Given the description of an element on the screen output the (x, y) to click on. 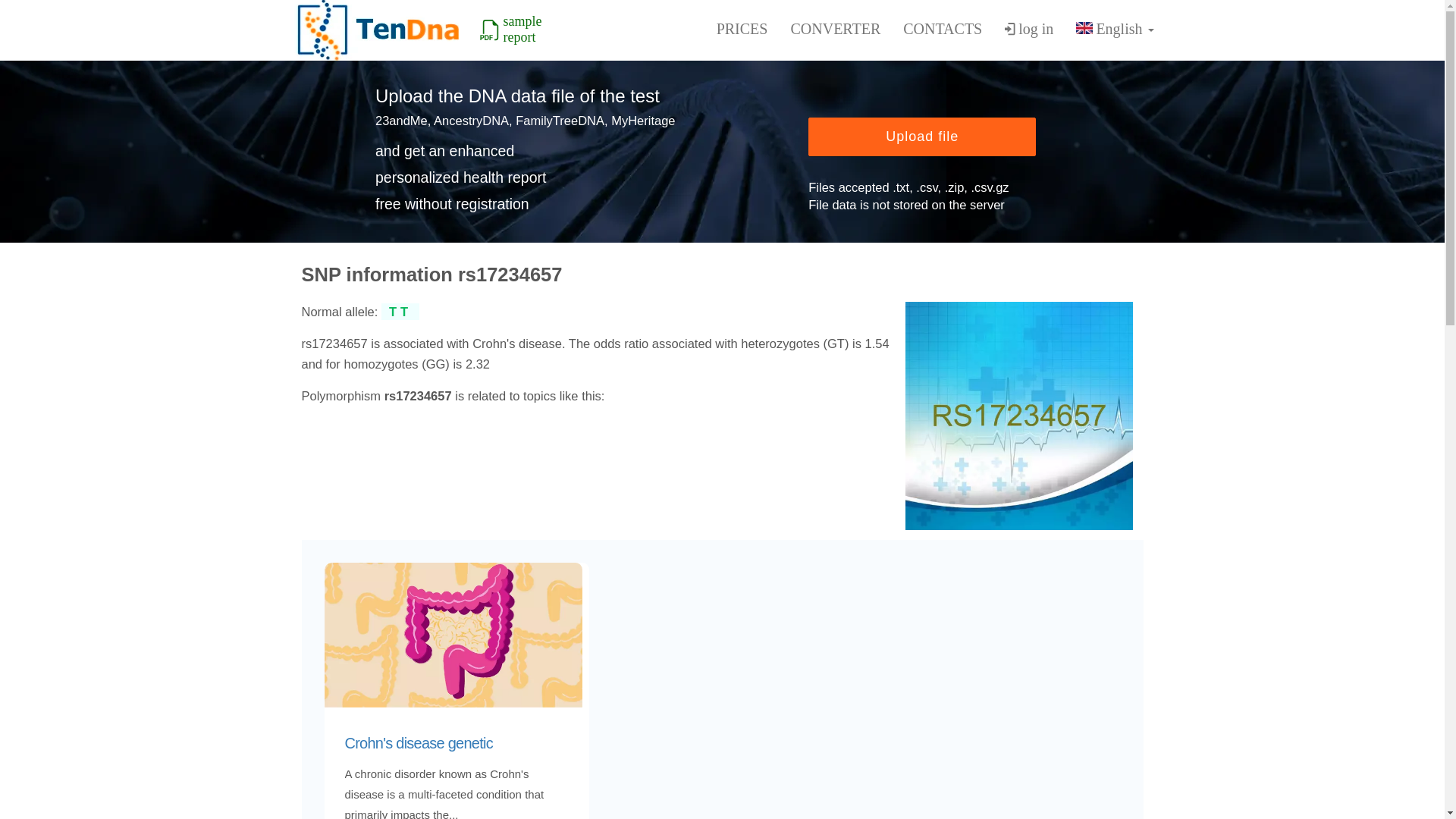
RS17234657 (1018, 415)
PRICES (741, 28)
CONTACTS (941, 28)
log in (1028, 29)
CONVERTER (834, 28)
sample report (522, 29)
Crohn's disease genetic (456, 743)
